Given the description of an element on the screen output the (x, y) to click on. 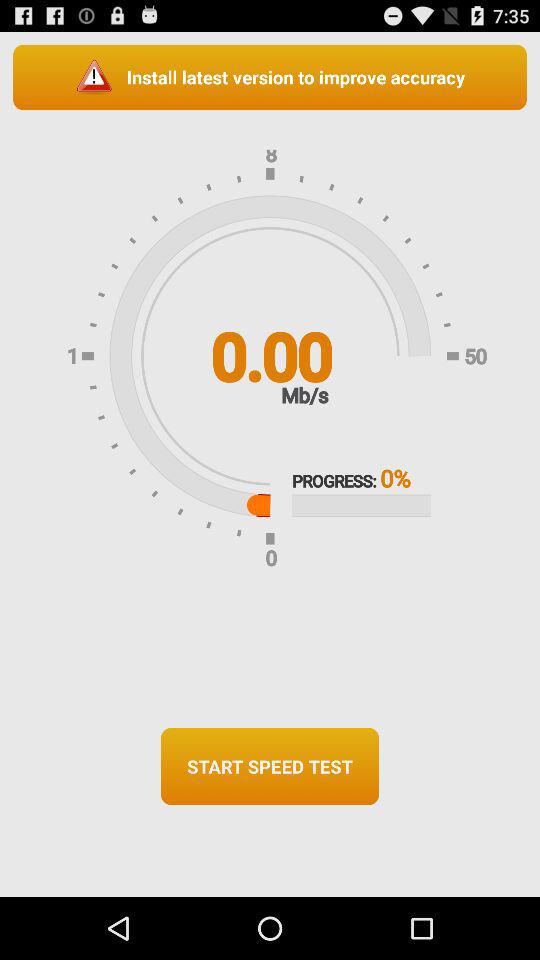
launch the button at the bottom (269, 766)
